Given the description of an element on the screen output the (x, y) to click on. 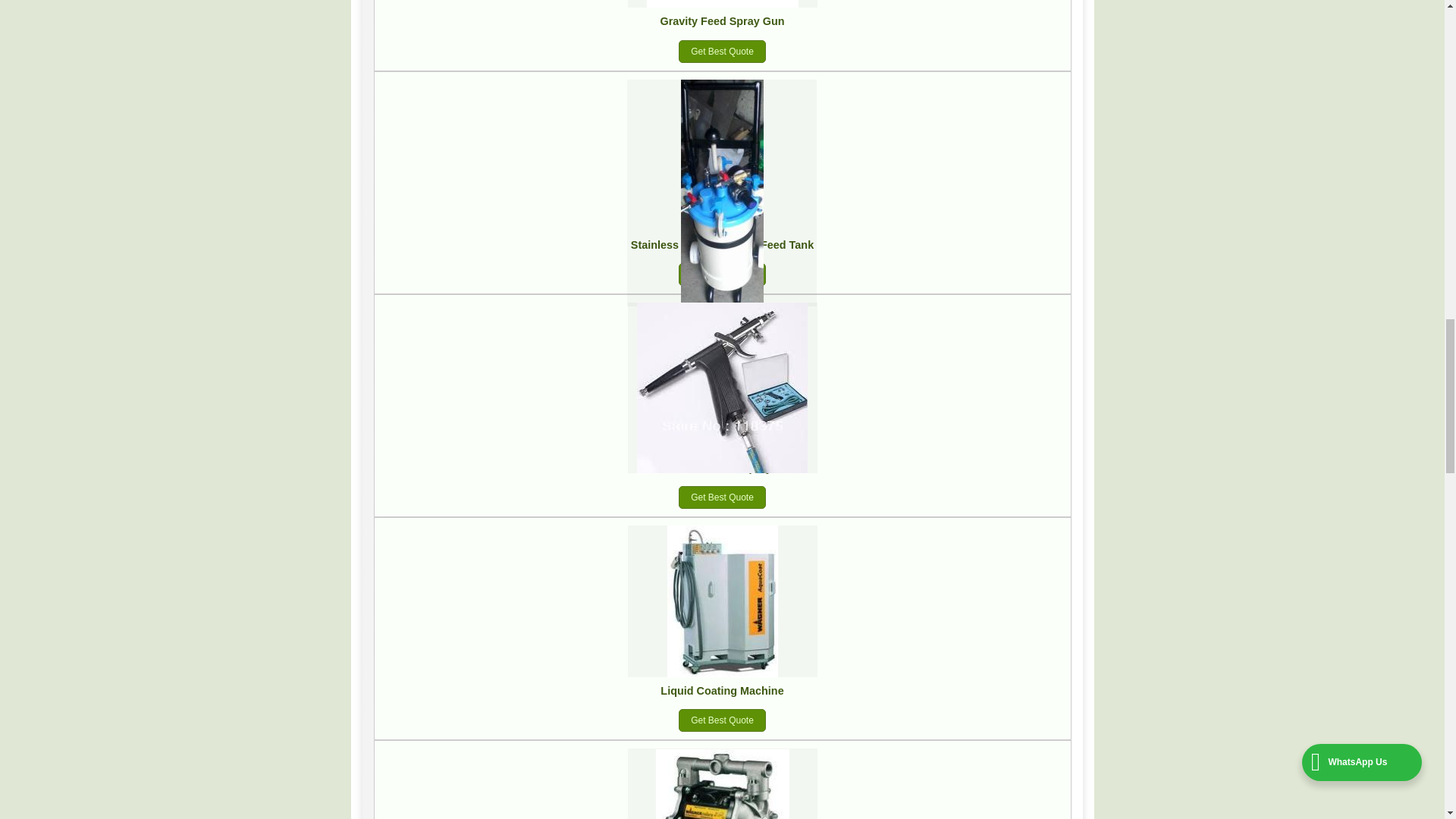
Get Best Quote (721, 273)
Gravity Feed Spray Gun (722, 21)
Get Best Quote (721, 51)
Stainless Steel Pressure Feed Tank (721, 244)
